Given the description of an element on the screen output the (x, y) to click on. 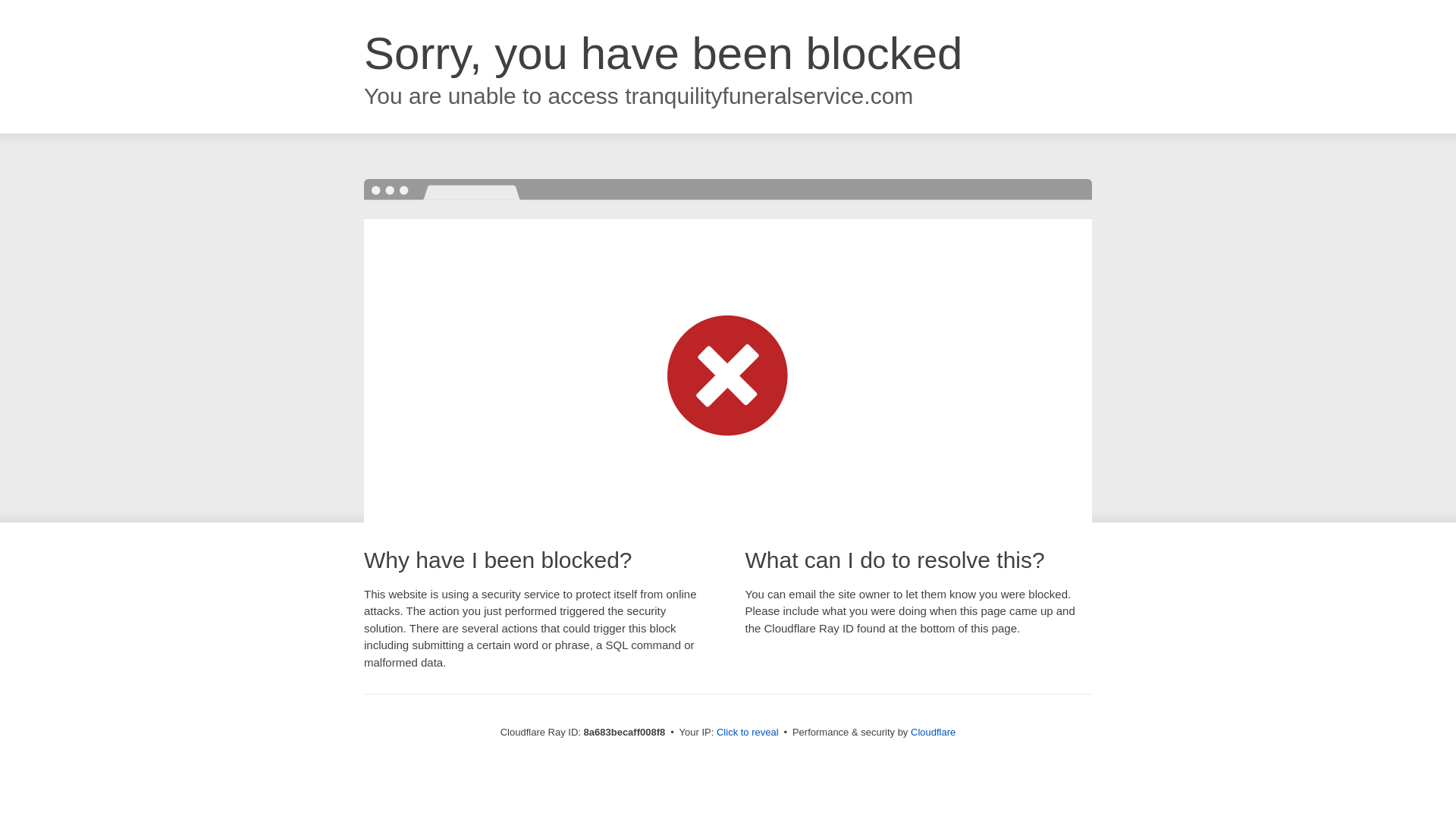
Click to reveal (747, 732)
Cloudflare (933, 731)
